Given the description of an element on the screen output the (x, y) to click on. 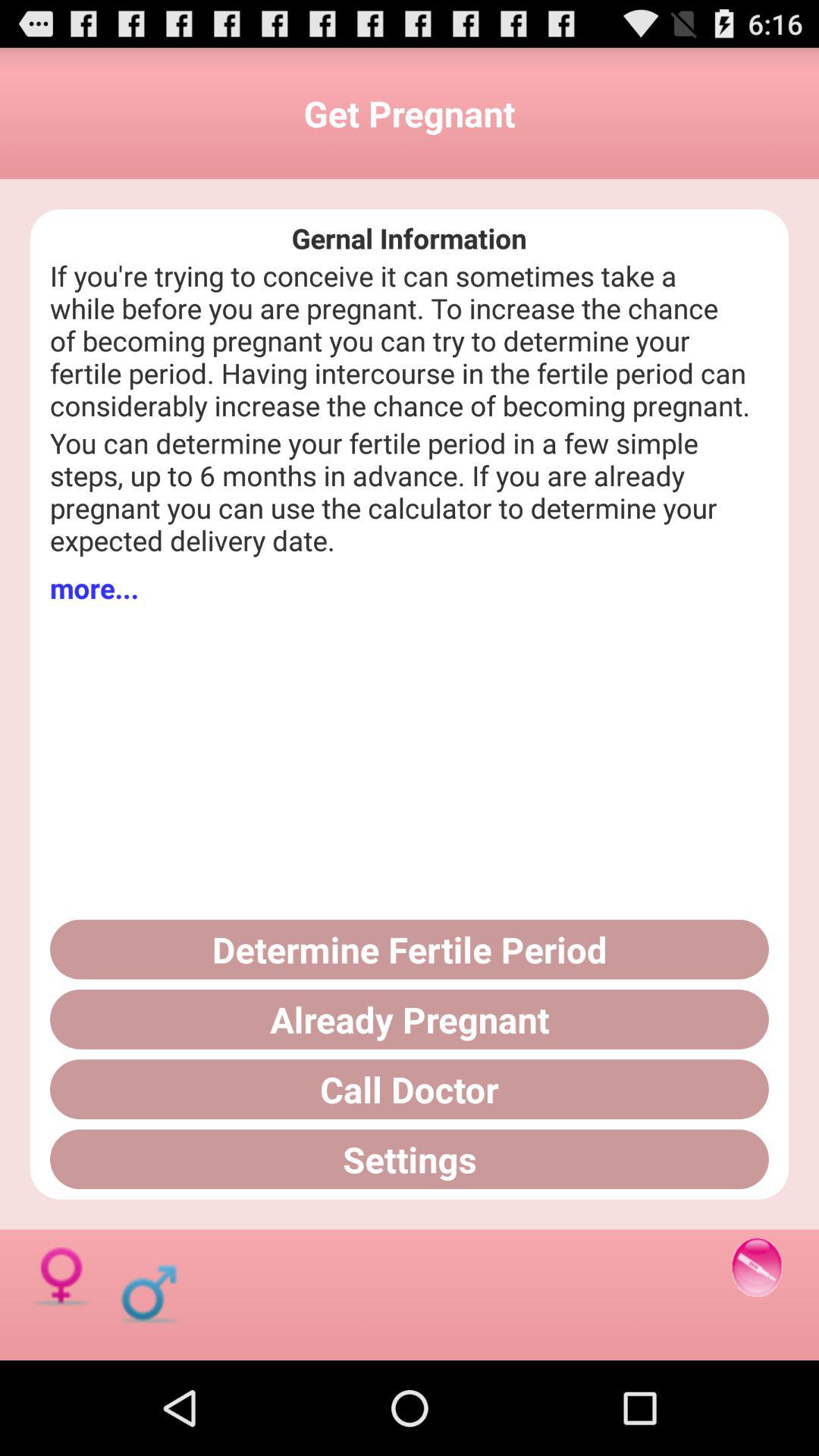
select the icon below already pregnant (409, 1089)
